Given the description of an element on the screen output the (x, y) to click on. 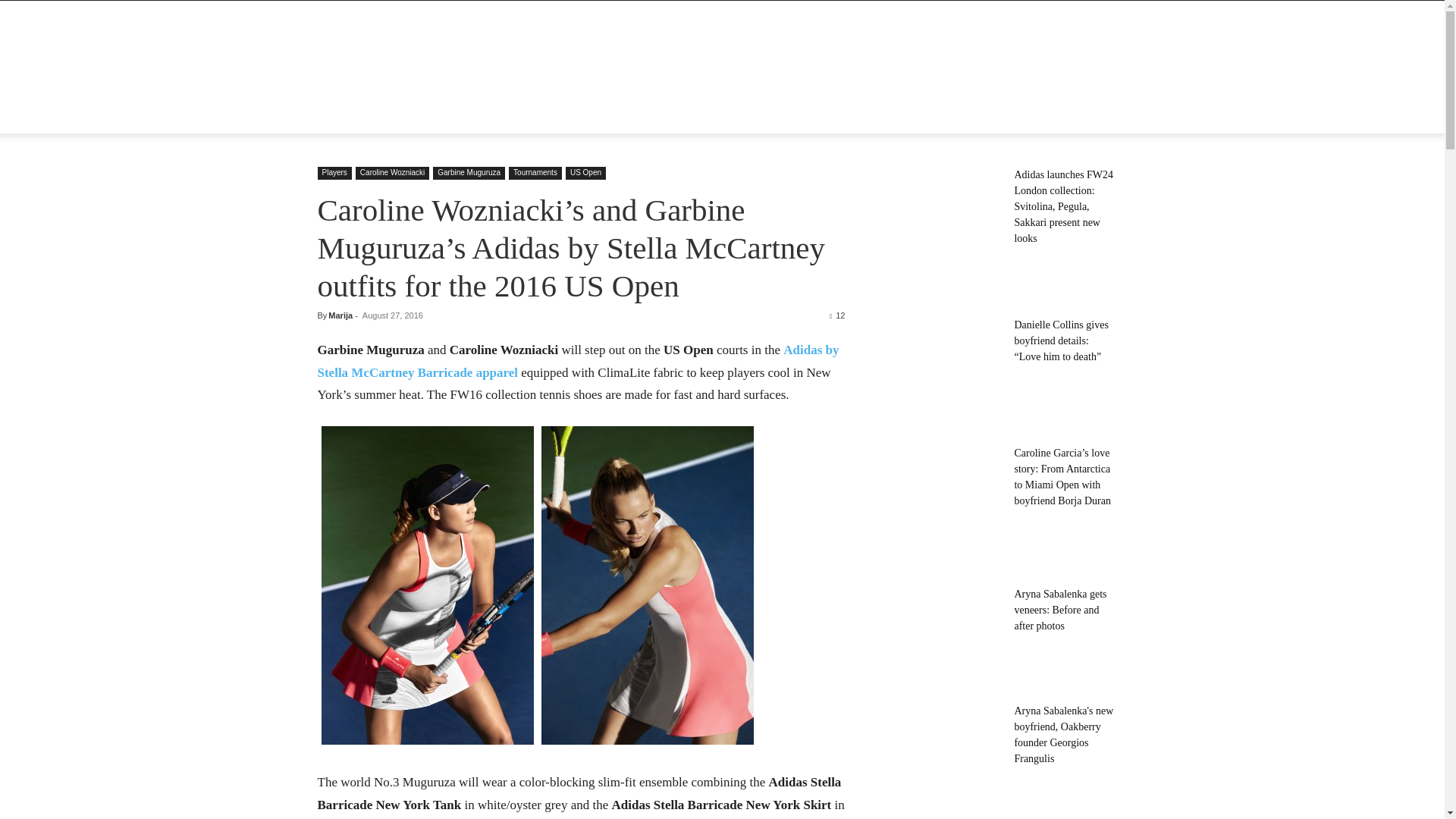
Contact Us (659, 115)
Search (1085, 175)
Subscribe (728, 115)
Featured (445, 115)
Home (341, 115)
About (389, 115)
